Given the description of an element on the screen output the (x, y) to click on. 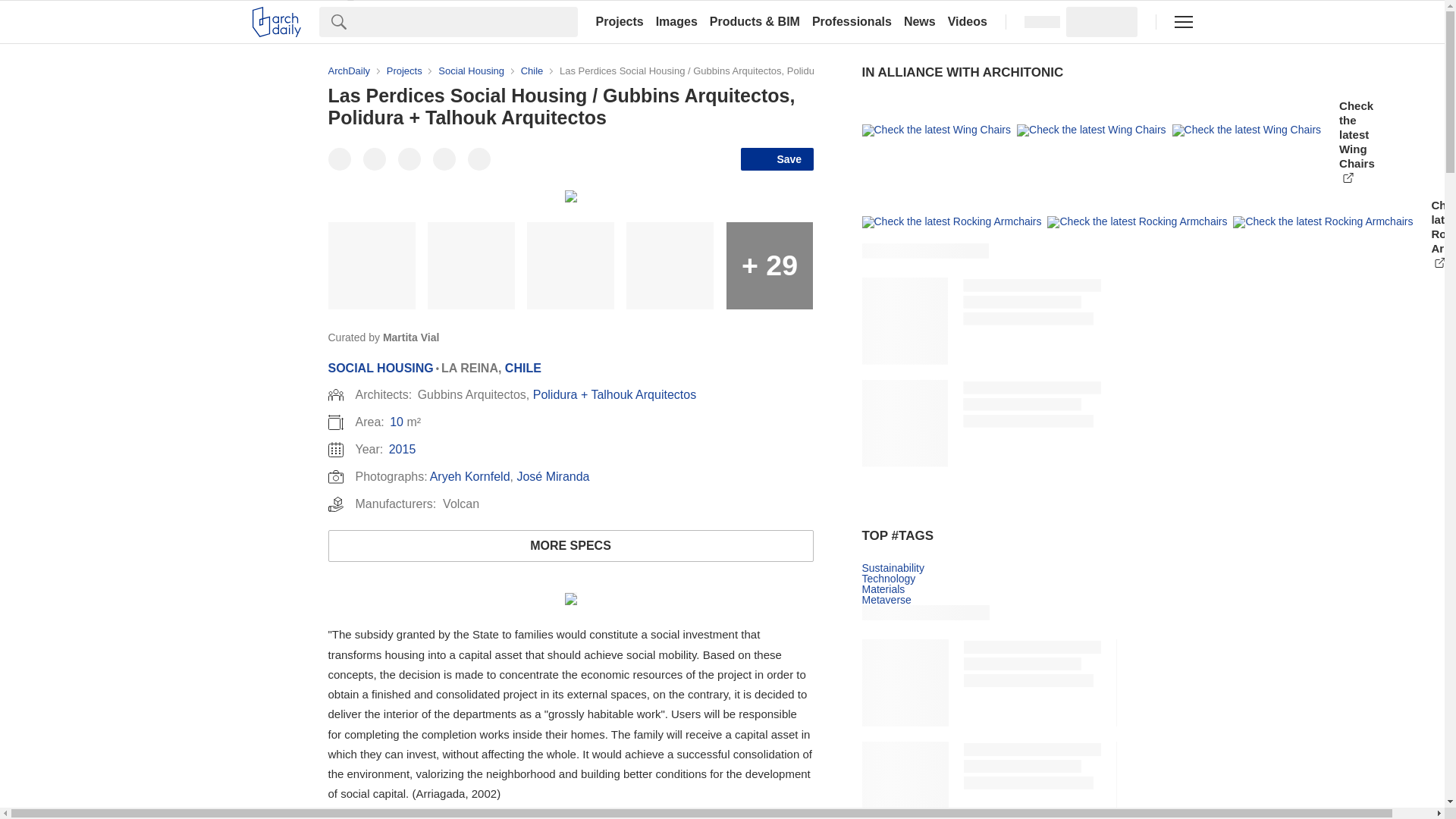
Projects (619, 21)
News (920, 21)
Videos (967, 21)
Images (676, 21)
Professionals (852, 21)
